Given the description of an element on the screen output the (x, y) to click on. 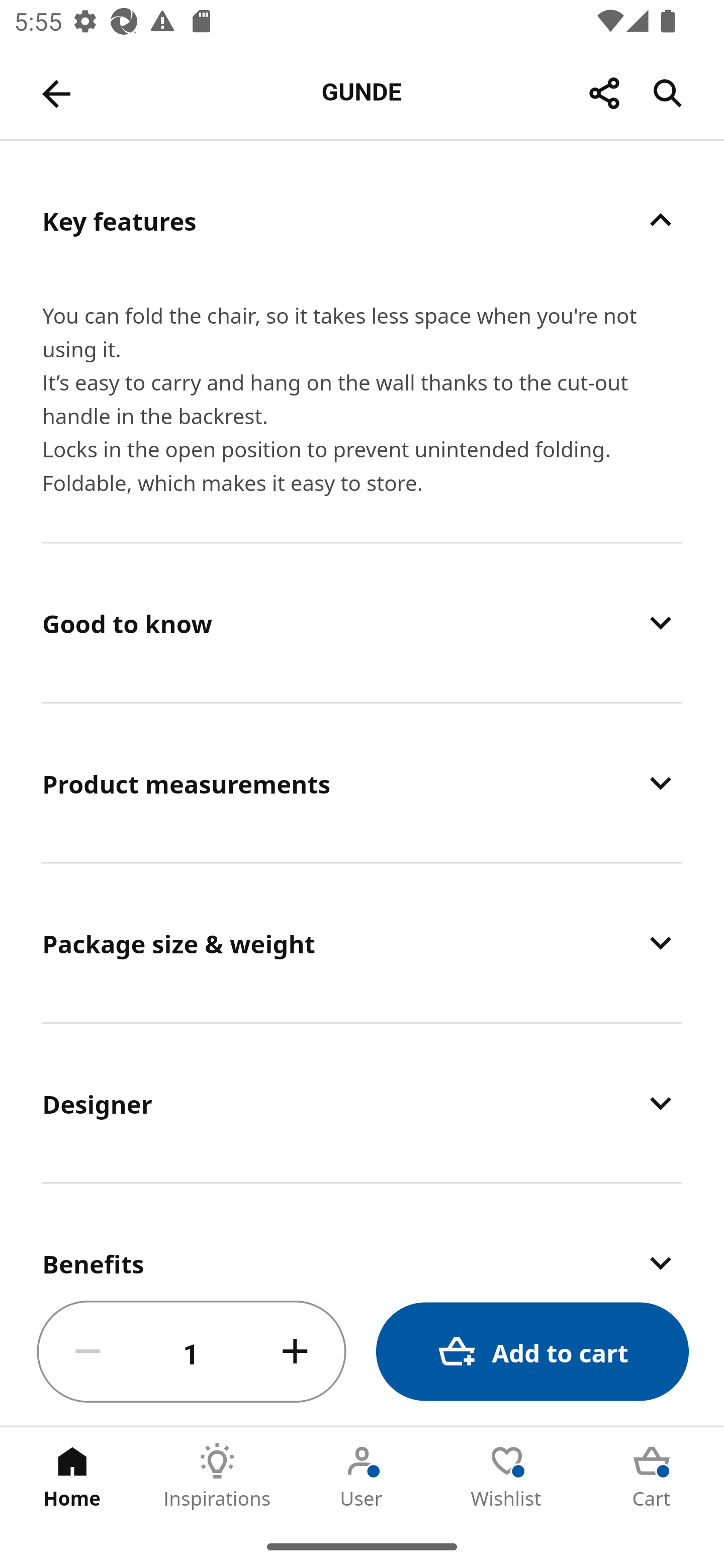
Key features (361, 219)
Good to know (361, 622)
Product measurements (361, 782)
Package size & weight (361, 942)
Designer (361, 1102)
Benefits (361, 1231)
Add to cart (531, 1352)
1 (191, 1352)
Home
Tab 1 of 5 (72, 1476)
Inspirations
Tab 2 of 5 (216, 1476)
User
Tab 3 of 5 (361, 1476)
Wishlist
Tab 4 of 5 (506, 1476)
Cart
Tab 5 of 5 (651, 1476)
